Given the description of an element on the screen output the (x, y) to click on. 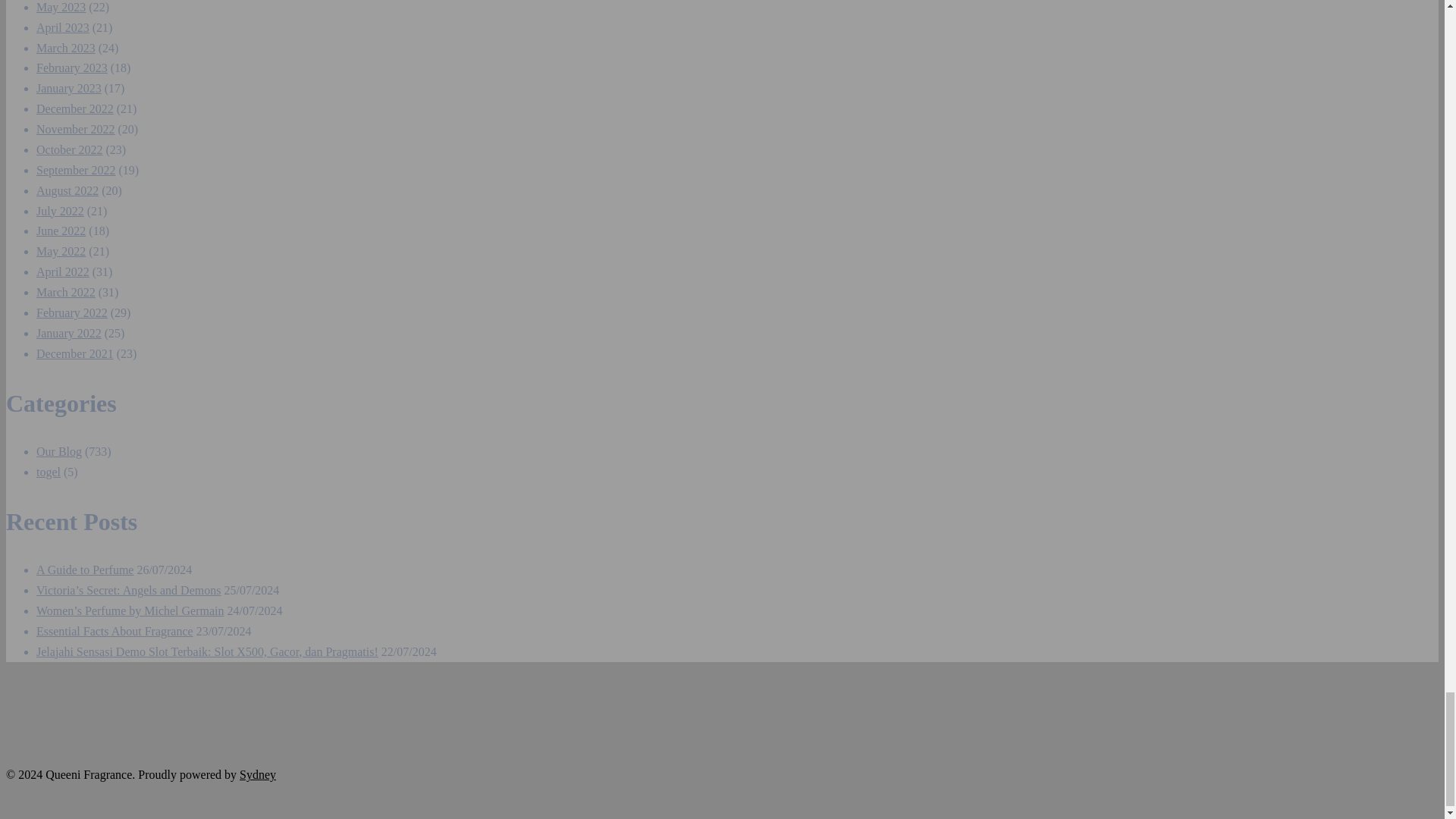
March 2023 (66, 47)
May 2023 (60, 6)
April 2023 (62, 27)
February 2023 (71, 67)
